Given the description of an element on the screen output the (x, y) to click on. 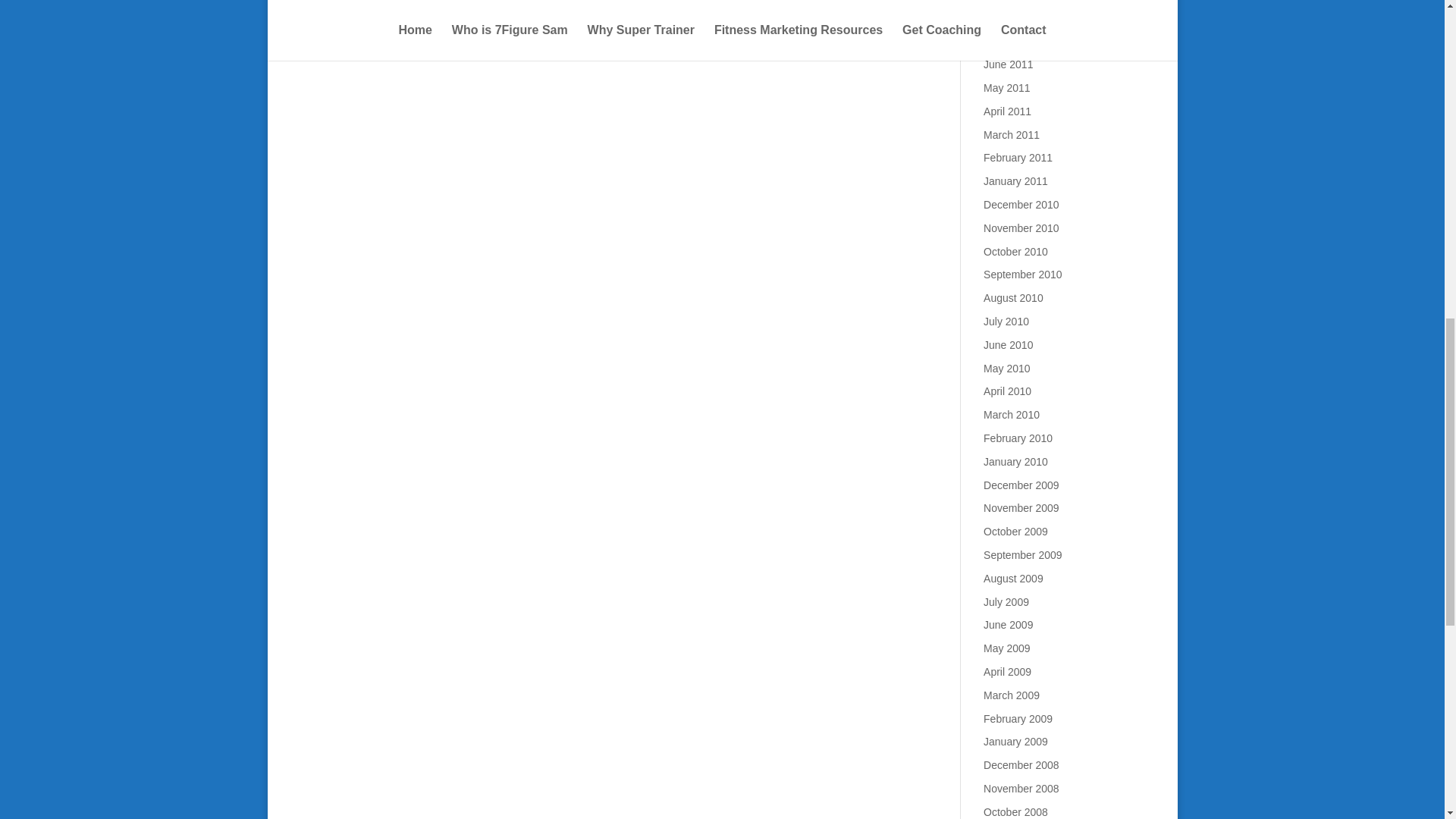
August 2011 (1013, 18)
